Given the description of an element on the screen output the (x, y) to click on. 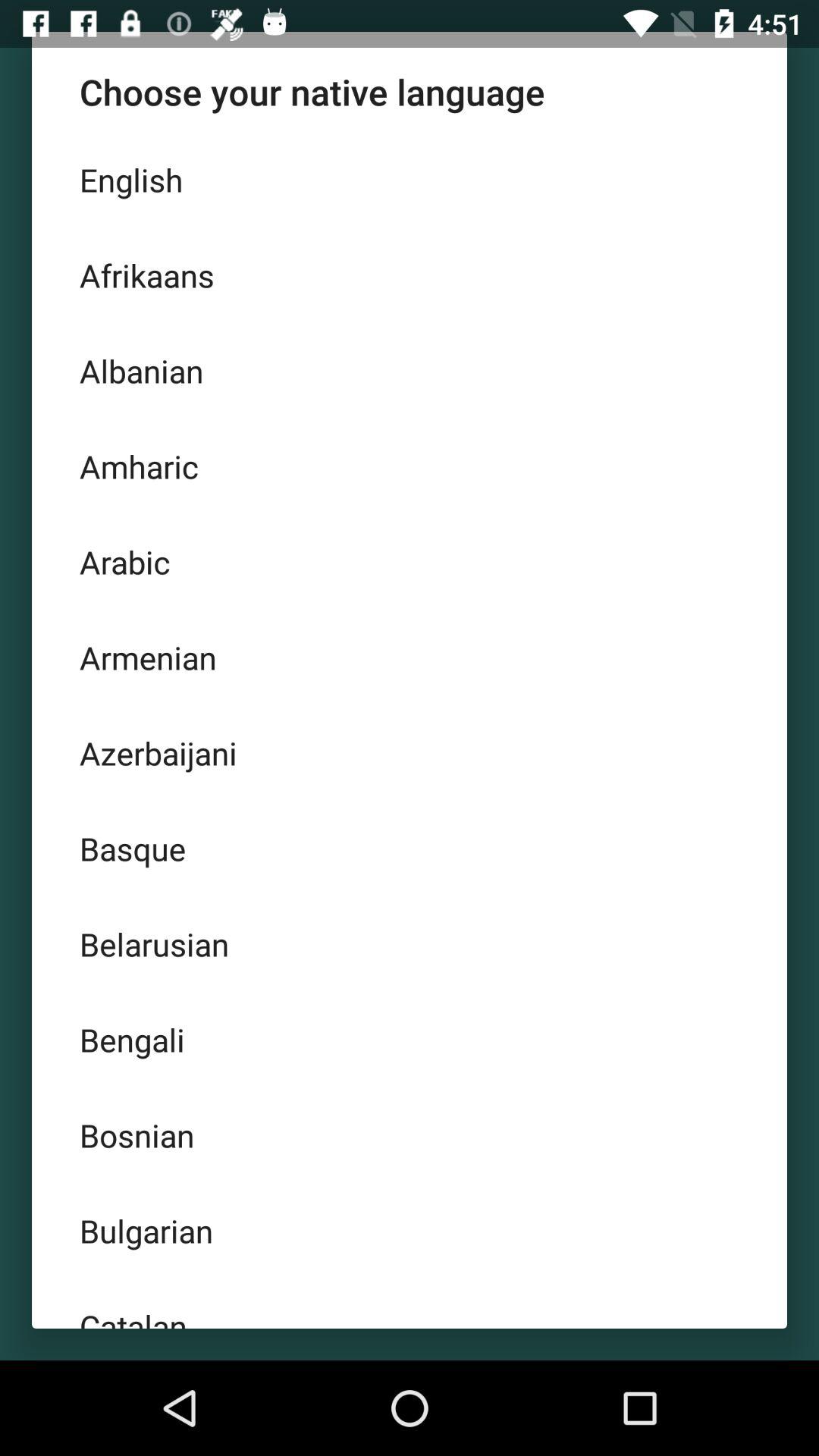
select armenian item (409, 657)
